Given the description of an element on the screen output the (x, y) to click on. 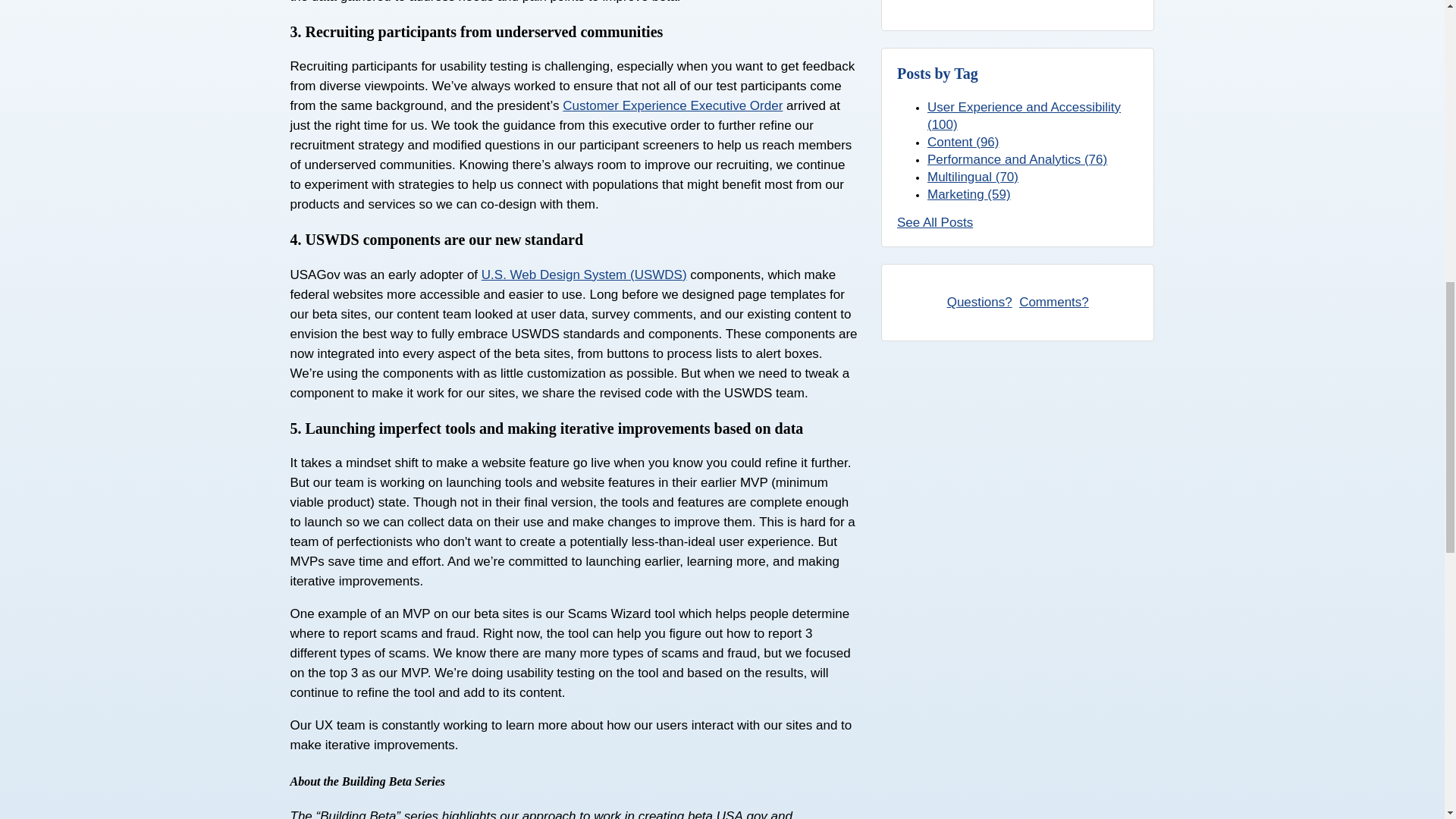
Comments? (1054, 301)
See All Posts (934, 222)
Customer Experience Executive Order (672, 105)
Questions? (979, 301)
